Given the description of an element on the screen output the (x, y) to click on. 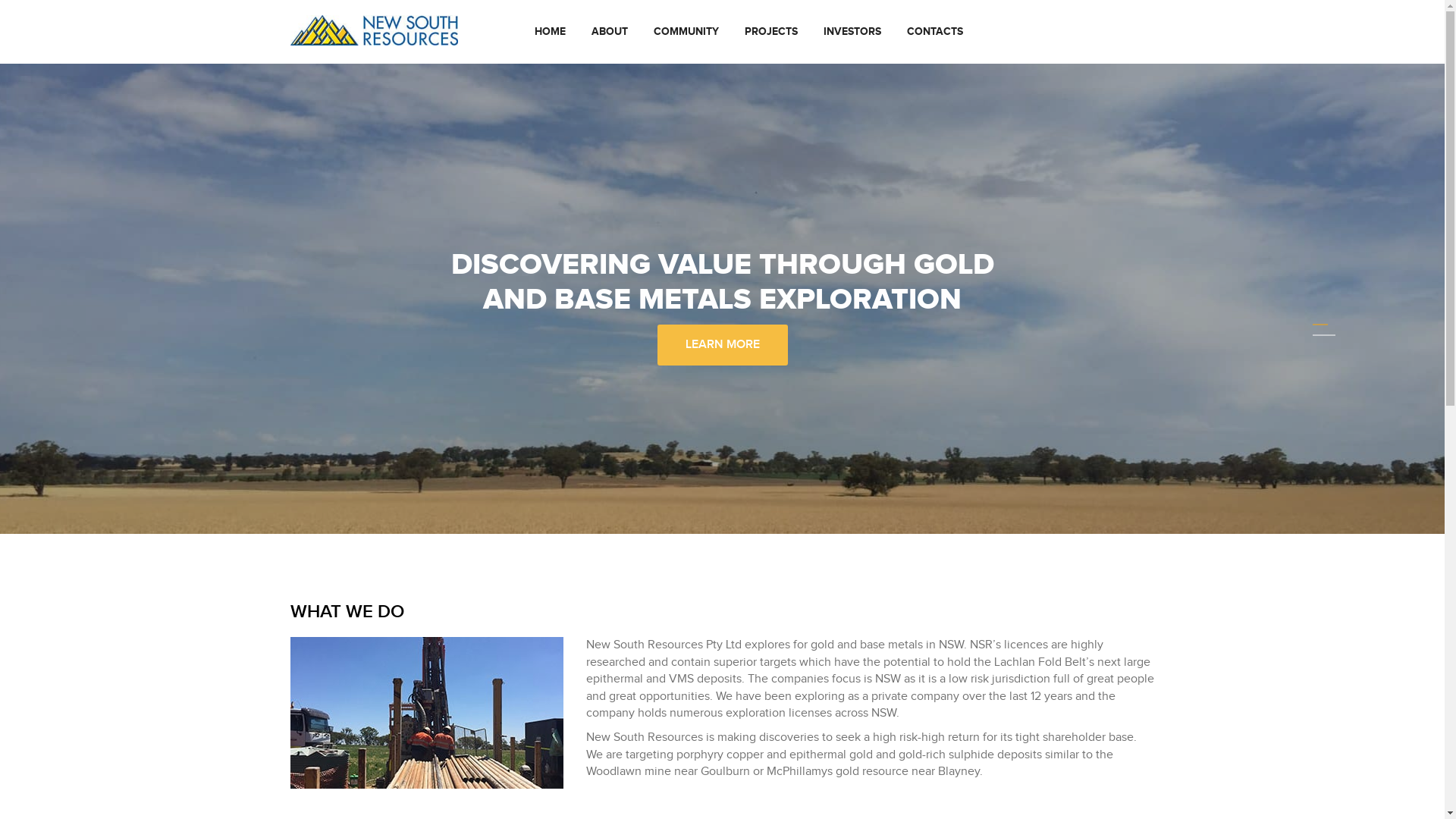
PROJECTS Element type: text (771, 31)
INVESTORS Element type: text (852, 31)
CONTACTS Element type: text (934, 31)
HOME Element type: text (550, 31)
LEARN MORE Element type: text (721, 344)
COMMUNITY Element type: text (686, 31)
ABOUT Element type: text (609, 31)
